Given the description of an element on the screen output the (x, y) to click on. 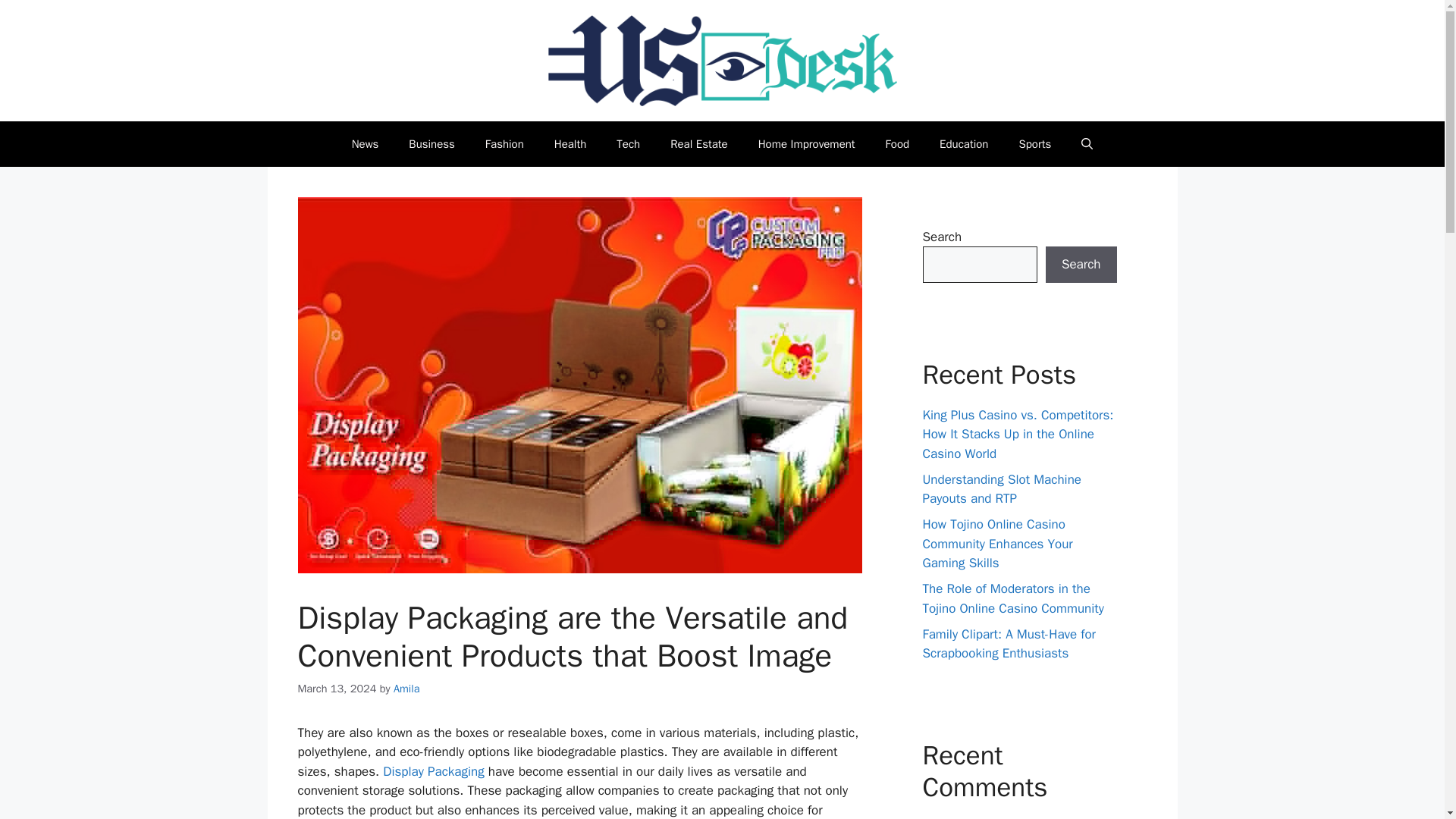
Home Improvement (806, 144)
Display Packaging (432, 771)
Real Estate (698, 144)
Amila (406, 688)
Food (897, 144)
Sports (1034, 144)
View all posts by Amila (406, 688)
Fashion (504, 144)
News (365, 144)
Business (431, 144)
Health (570, 144)
Education (963, 144)
Tech (628, 144)
